Given the description of an element on the screen output the (x, y) to click on. 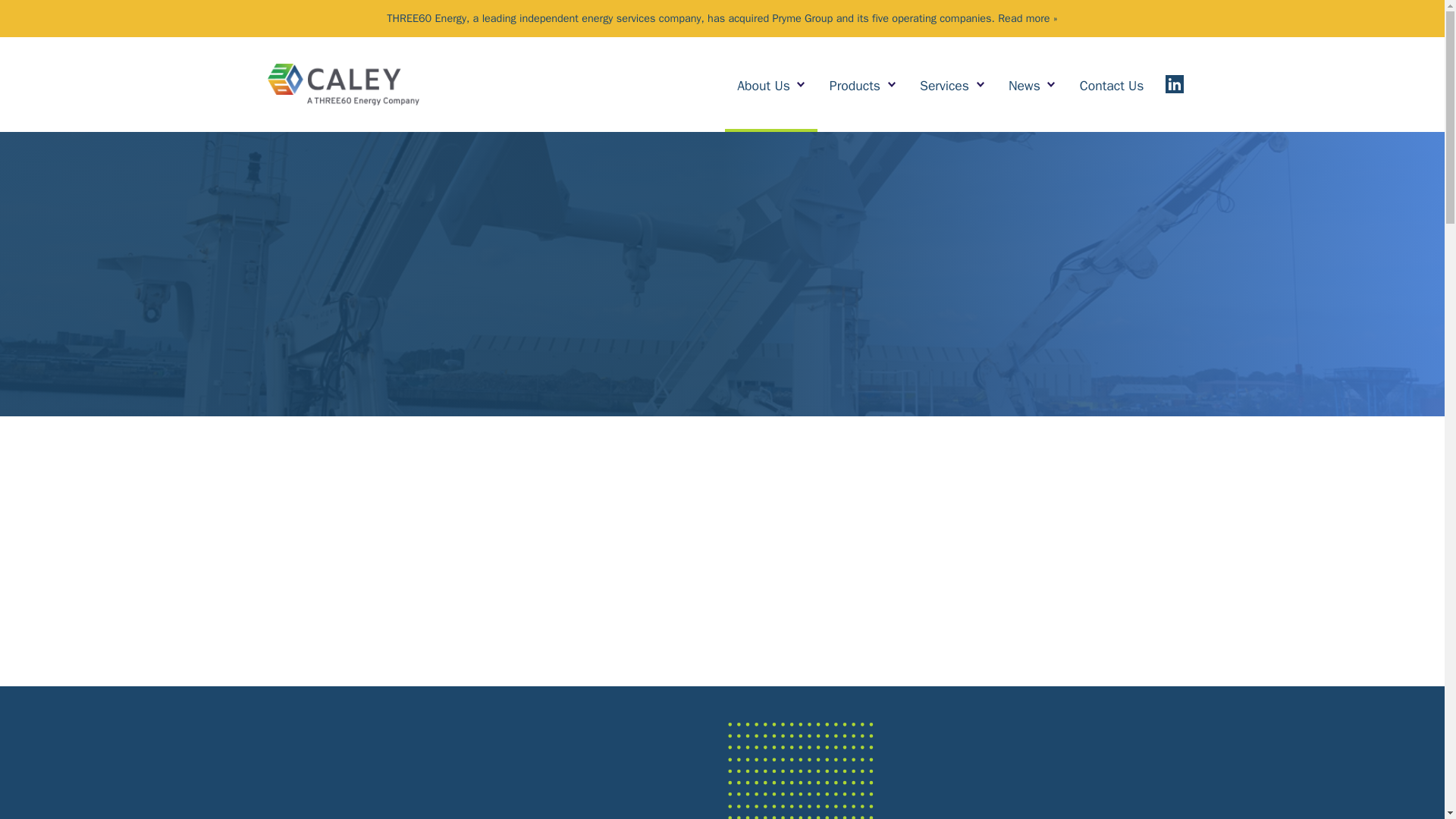
Services (951, 84)
Products (861, 84)
Homepage (342, 84)
Link to Linkedin (1173, 84)
Contact Us (1111, 84)
About Us (770, 84)
